Given the description of an element on the screen output the (x, y) to click on. 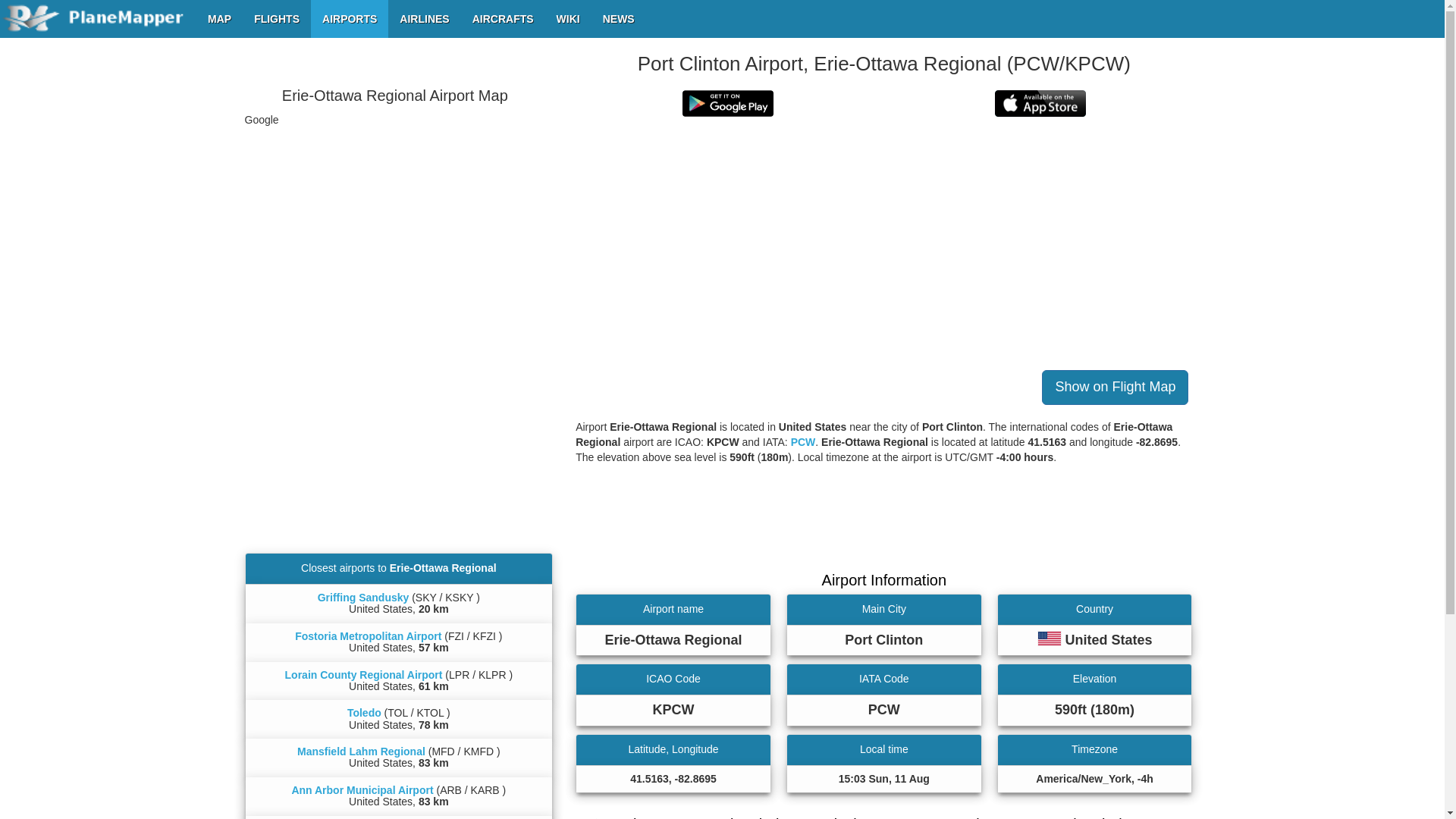
AIRPORTS (349, 18)
Lorain County Regional Airport (363, 674)
Advertisement (397, 423)
Advertisement (883, 522)
FLIGHTS (277, 18)
Toledo (364, 712)
Fostoria Metropolitan Airport (368, 635)
Mansfield Lahm Regional (361, 751)
Griffing Sandusky (363, 597)
AIRLINES (424, 18)
